Given the description of an element on the screen output the (x, y) to click on. 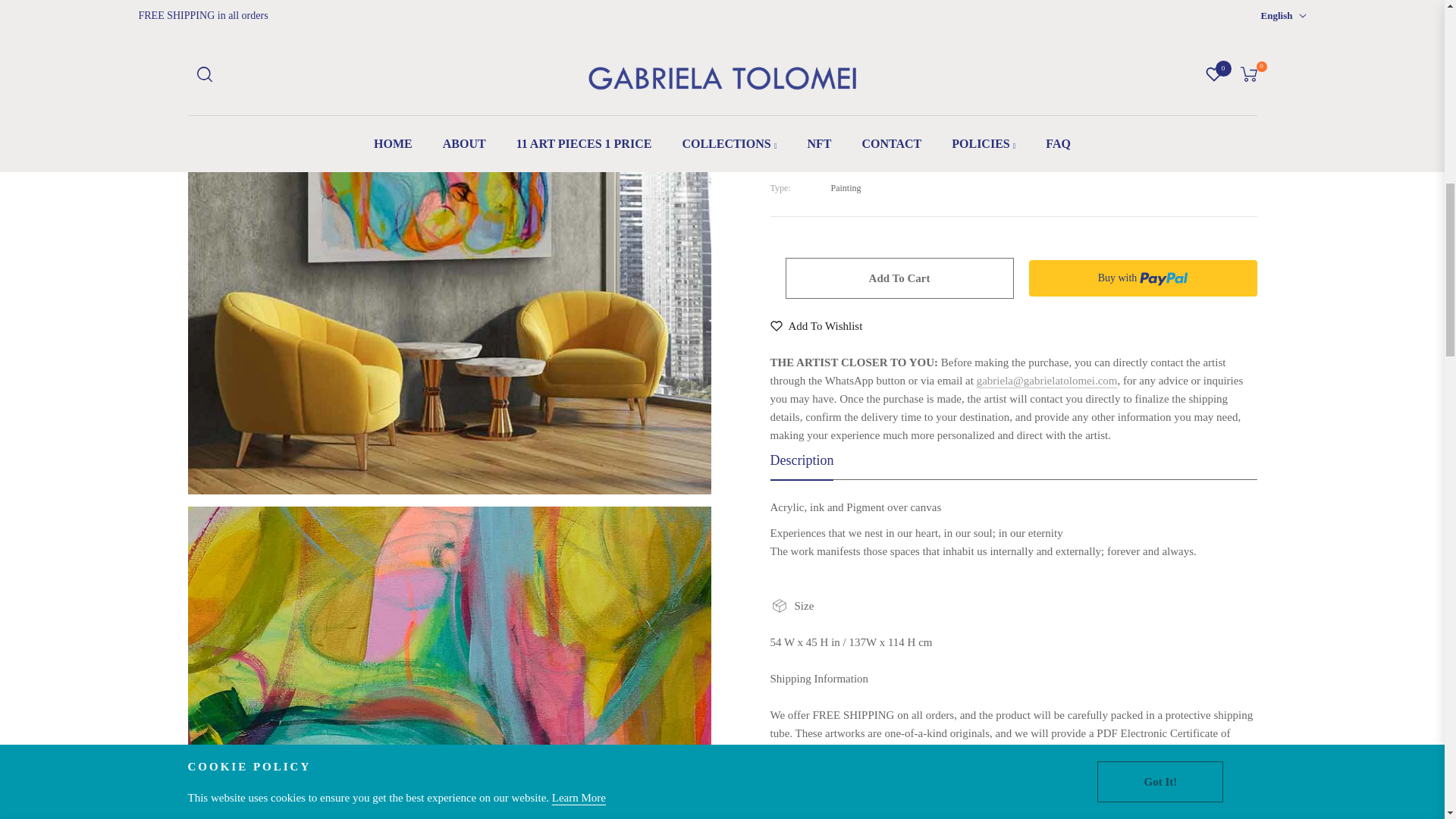
Tweet  (850, 199)
Pin it (913, 199)
Share  (789, 199)
